Given the description of an element on the screen output the (x, y) to click on. 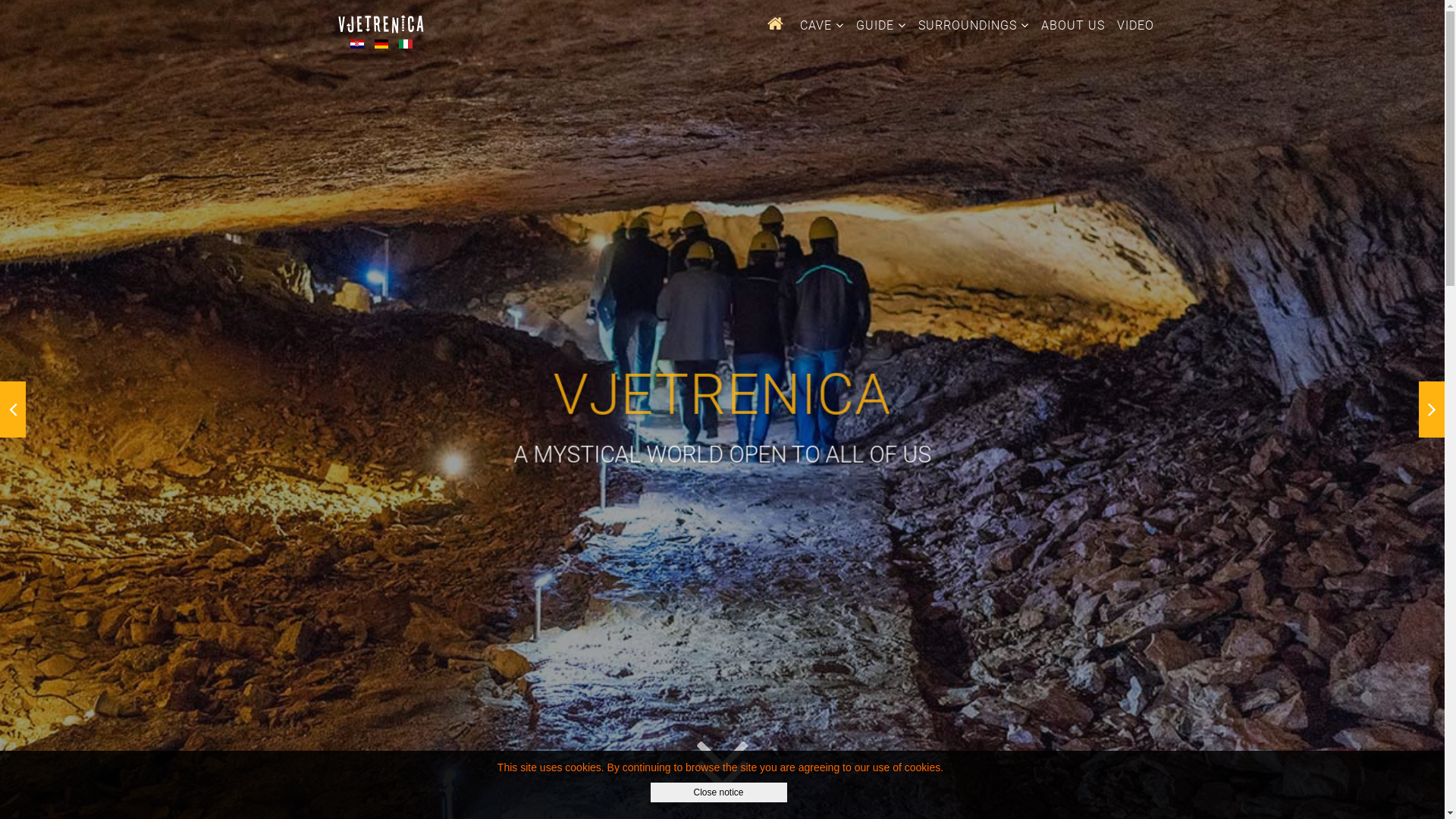
Deutsch Element type: hover (381, 43)
CAVE Element type: text (821, 25)
VIDEO Element type: text (1135, 25)
ABOUT US Element type: text (1072, 25)
GUIDE Element type: text (881, 25)
SURROUNDINGS Element type: text (973, 25)
Hrvatski Element type: hover (357, 43)
Italiano Element type: hover (405, 43)
Close notice Element type: text (718, 792)
